Given the description of an element on the screen output the (x, y) to click on. 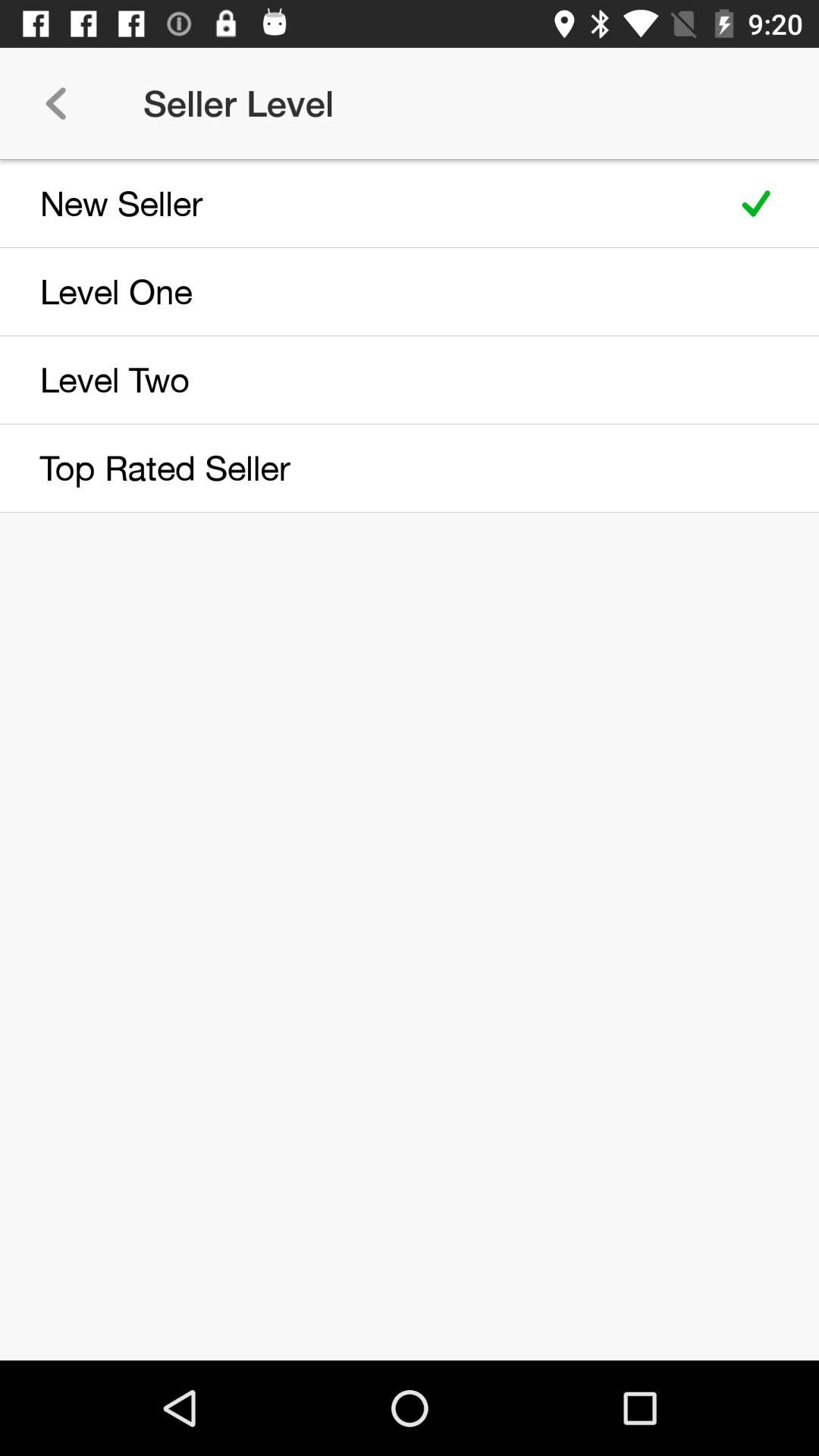
select item next to new seller icon (756, 203)
